Given the description of an element on the screen output the (x, y) to click on. 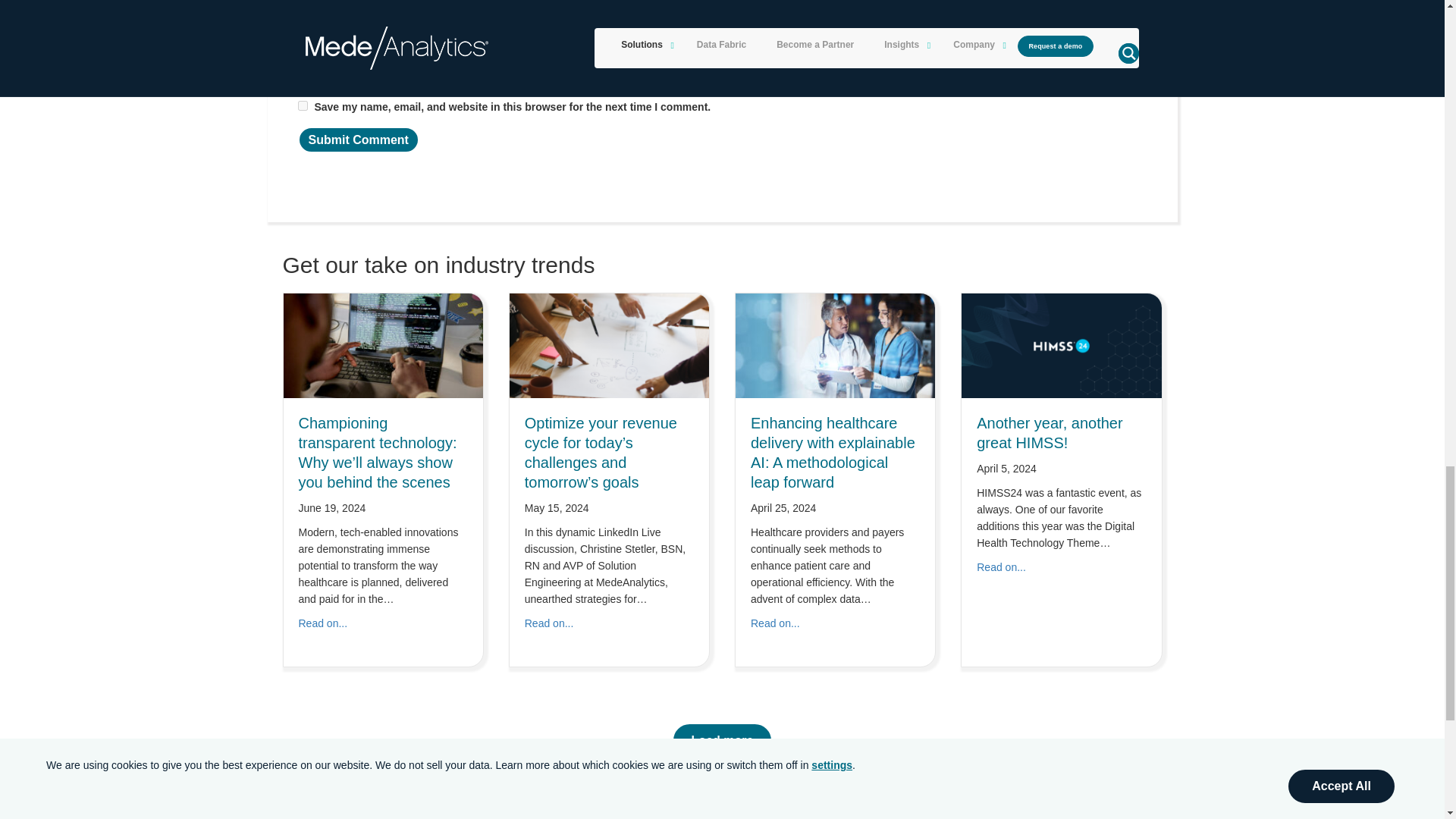
yes (302, 105)
Another year, another great HIMSS! (1001, 566)
Submit Comment (358, 139)
Another year, another great HIMSS! (1060, 345)
Another year, another great HIMSS! (1049, 432)
